Given the description of an element on the screen output the (x, y) to click on. 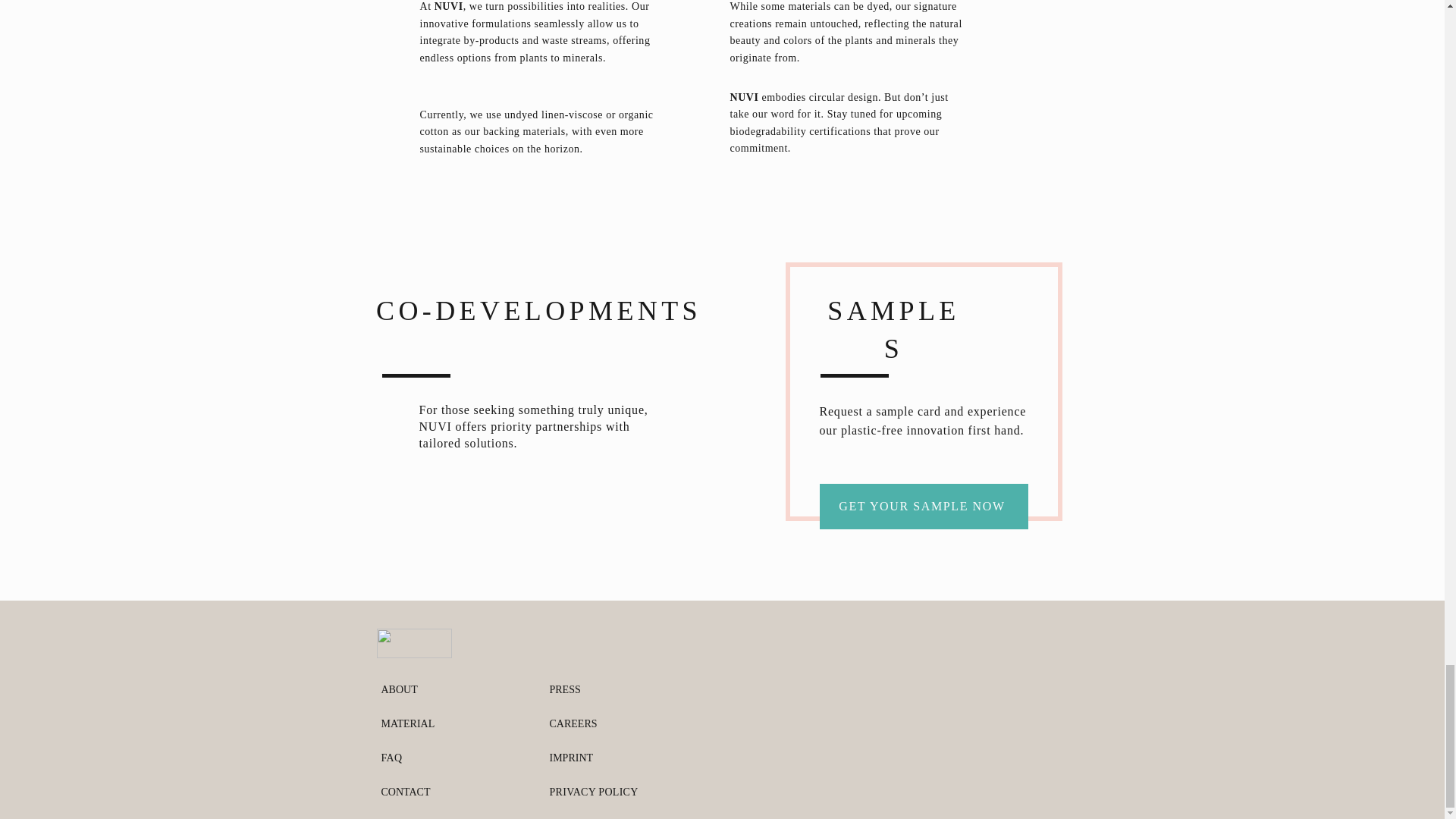
GET YOUR SAMPLE NOW (922, 506)
MATERIAL (406, 723)
PRESS (563, 689)
ABOUT (398, 689)
CONTACT (404, 791)
FAQ (390, 757)
PRIVACY POLICY (592, 791)
CAREERS (572, 723)
IMPRINT (570, 757)
